Given the description of an element on the screen output the (x, y) to click on. 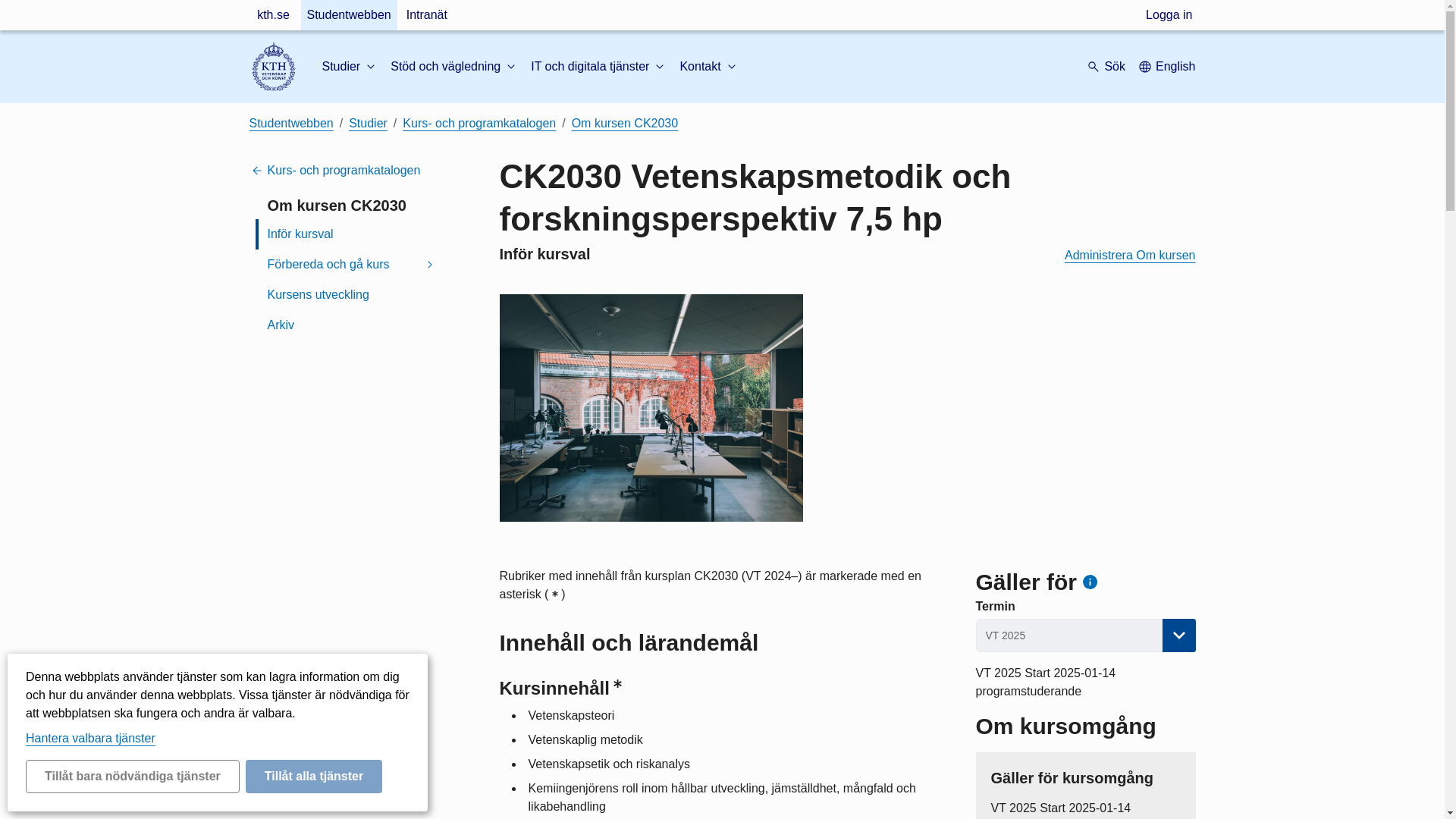
Administrera Om kursen (1129, 254)
Studier (349, 66)
Kontakt (708, 66)
kth.se (272, 15)
Studentwebben (347, 15)
Logga in (1168, 15)
